Given the description of an element on the screen output the (x, y) to click on. 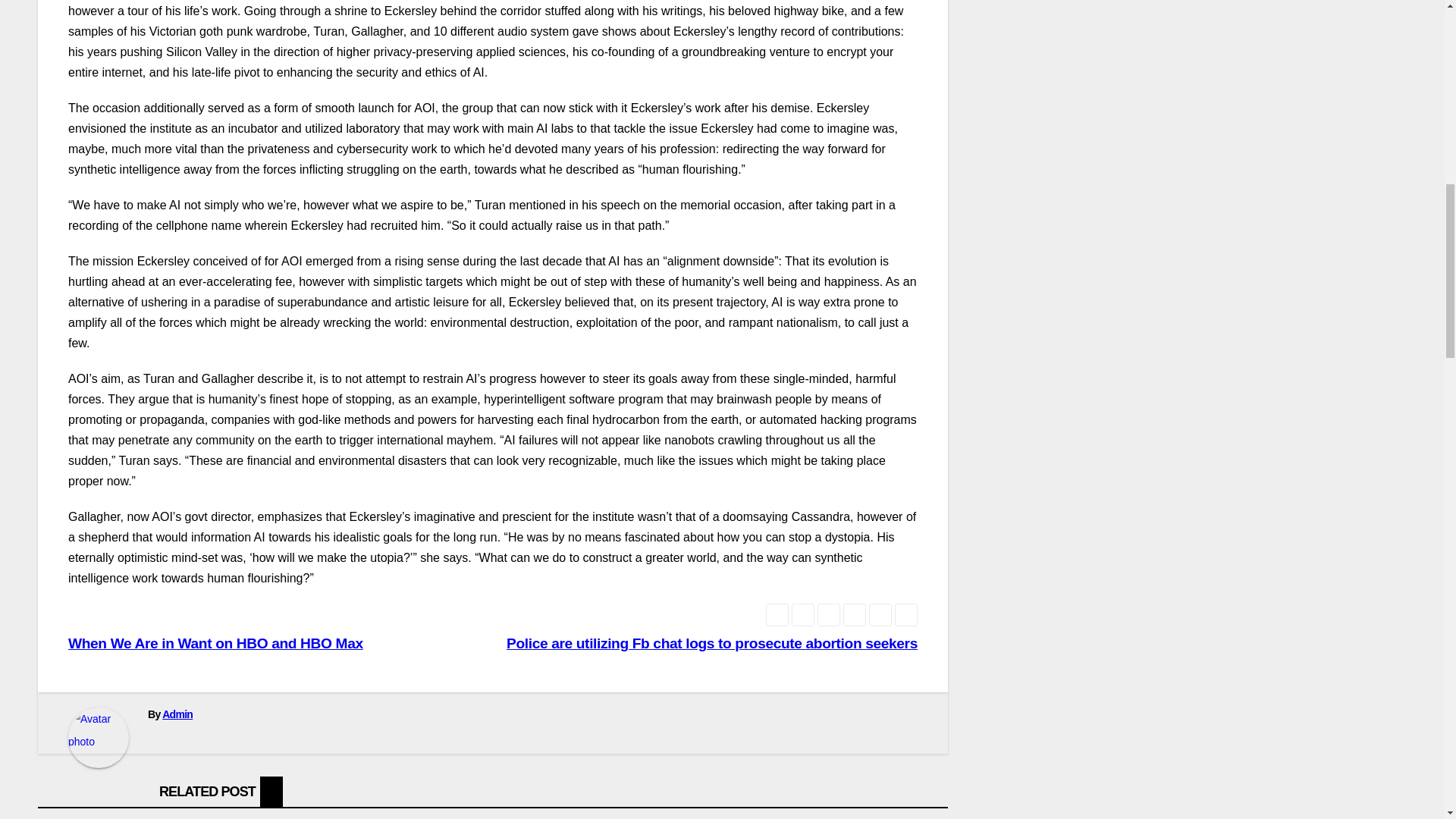
When We Are in Want on HBO and HBO Max (215, 643)
Admin (176, 714)
